Given the description of an element on the screen output the (x, y) to click on. 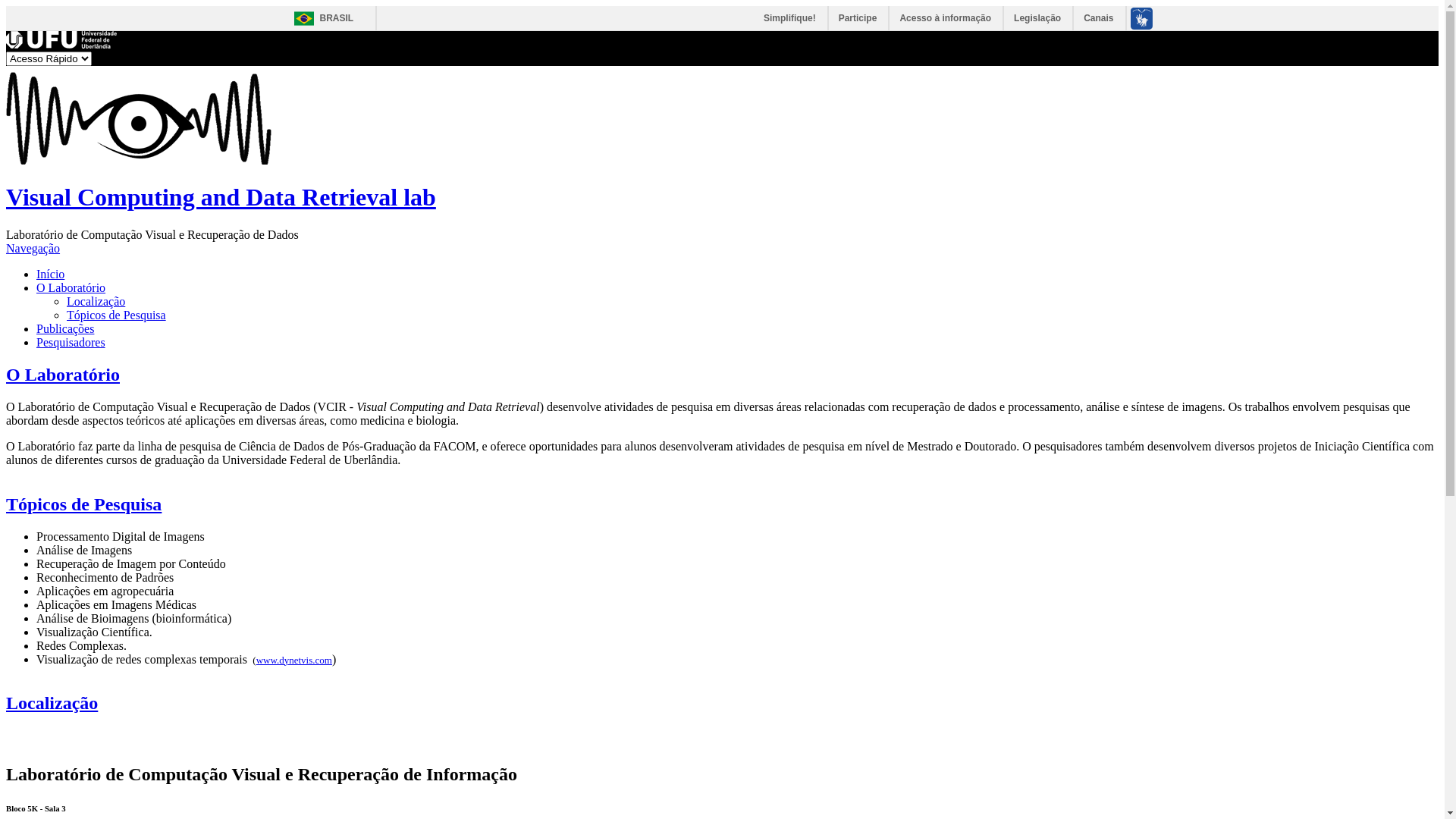
BRASIL Element type: text (320, 18)
Visual Computing and Data Retrieval lab Element type: text (221, 196)
Canais Element type: text (1098, 17)
Participe Element type: text (858, 17)
Simplifique! Element type: text (790, 17)
Pesquisadores Element type: text (70, 341)
www.dynetvis.com Element type: text (294, 659)
